Given the description of an element on the screen output the (x, y) to click on. 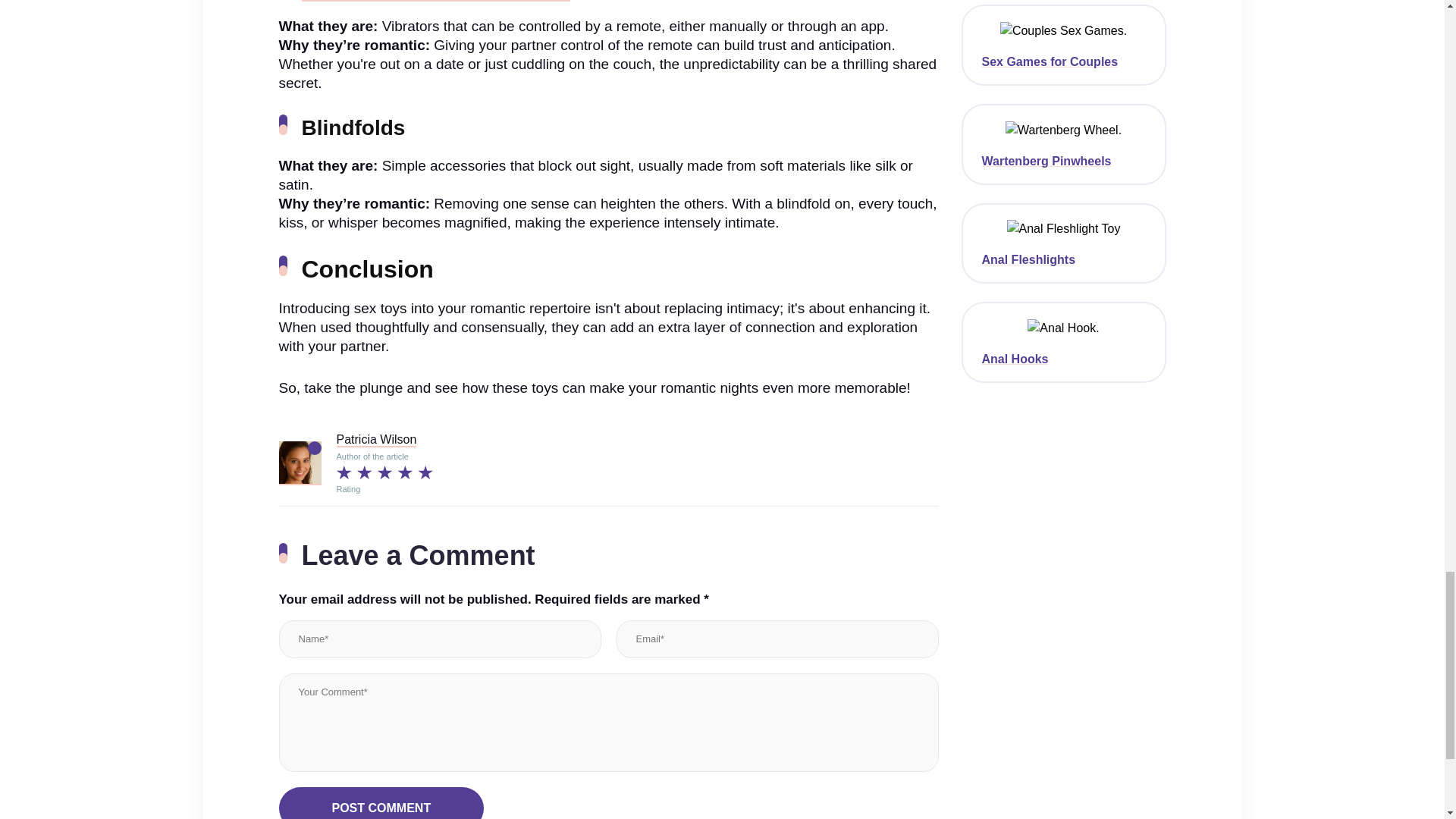
Post Comment (381, 803)
Patricia Wilson (376, 440)
Post Comment (381, 803)
